Given the description of an element on the screen output the (x, y) to click on. 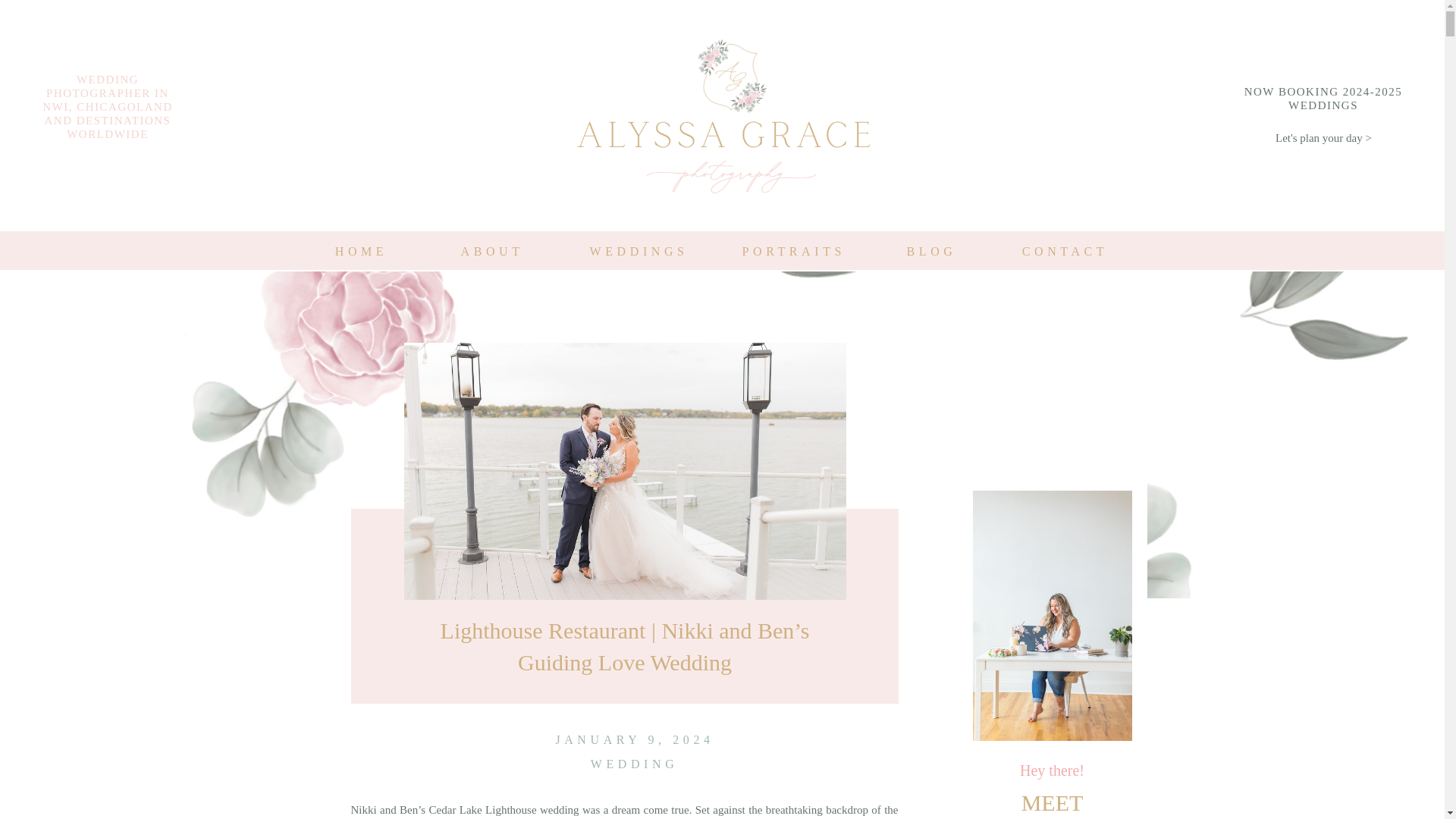
BLOG (927, 250)
HOME (361, 250)
ABOUT (490, 250)
CONTACT (1065, 250)
WEDDINGS (630, 250)
WEDDING (634, 763)
PORTRAITS (788, 250)
